Given the description of an element on the screen output the (x, y) to click on. 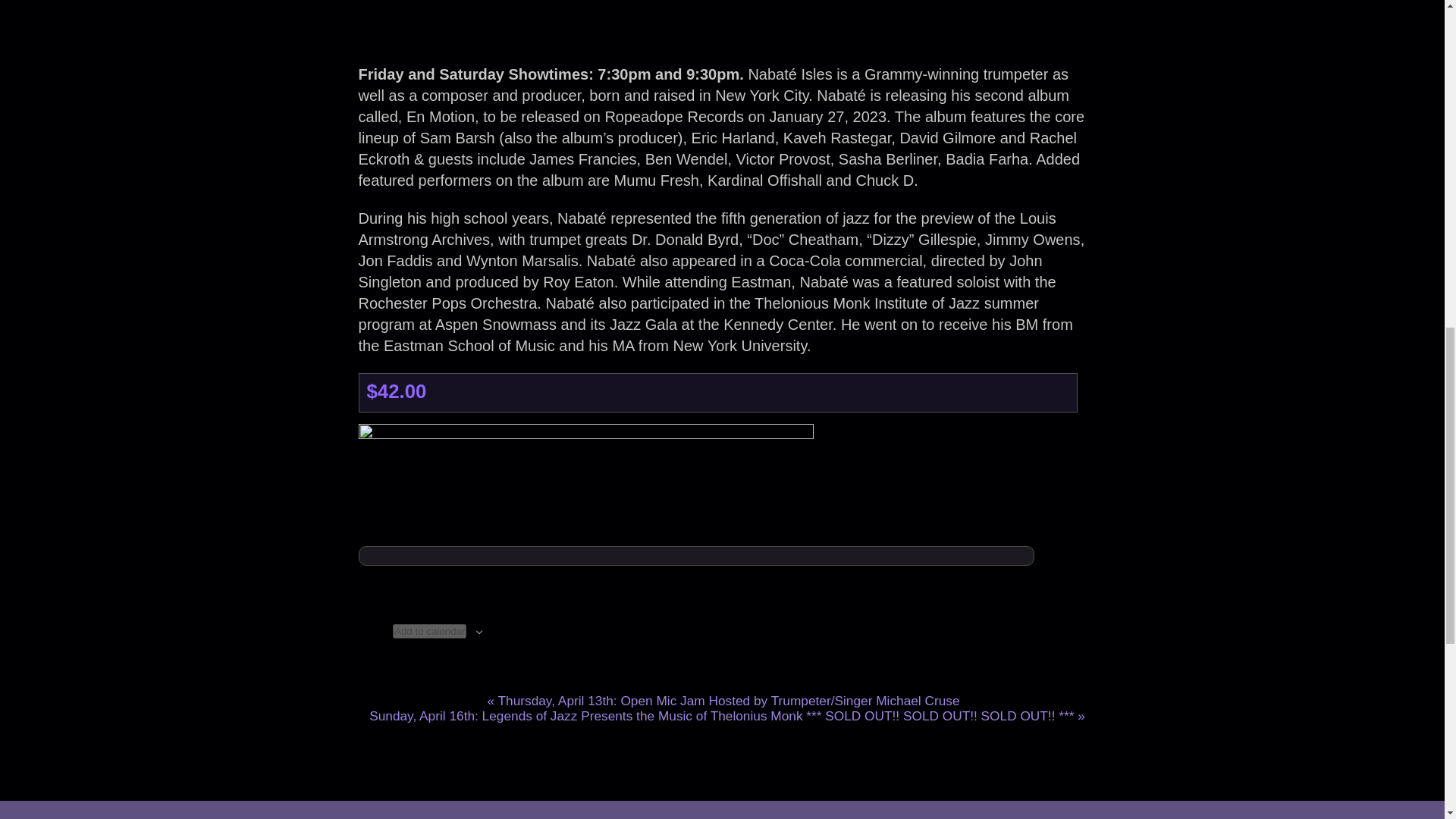
Add to calendar (429, 631)
